Given the description of an element on the screen output the (x, y) to click on. 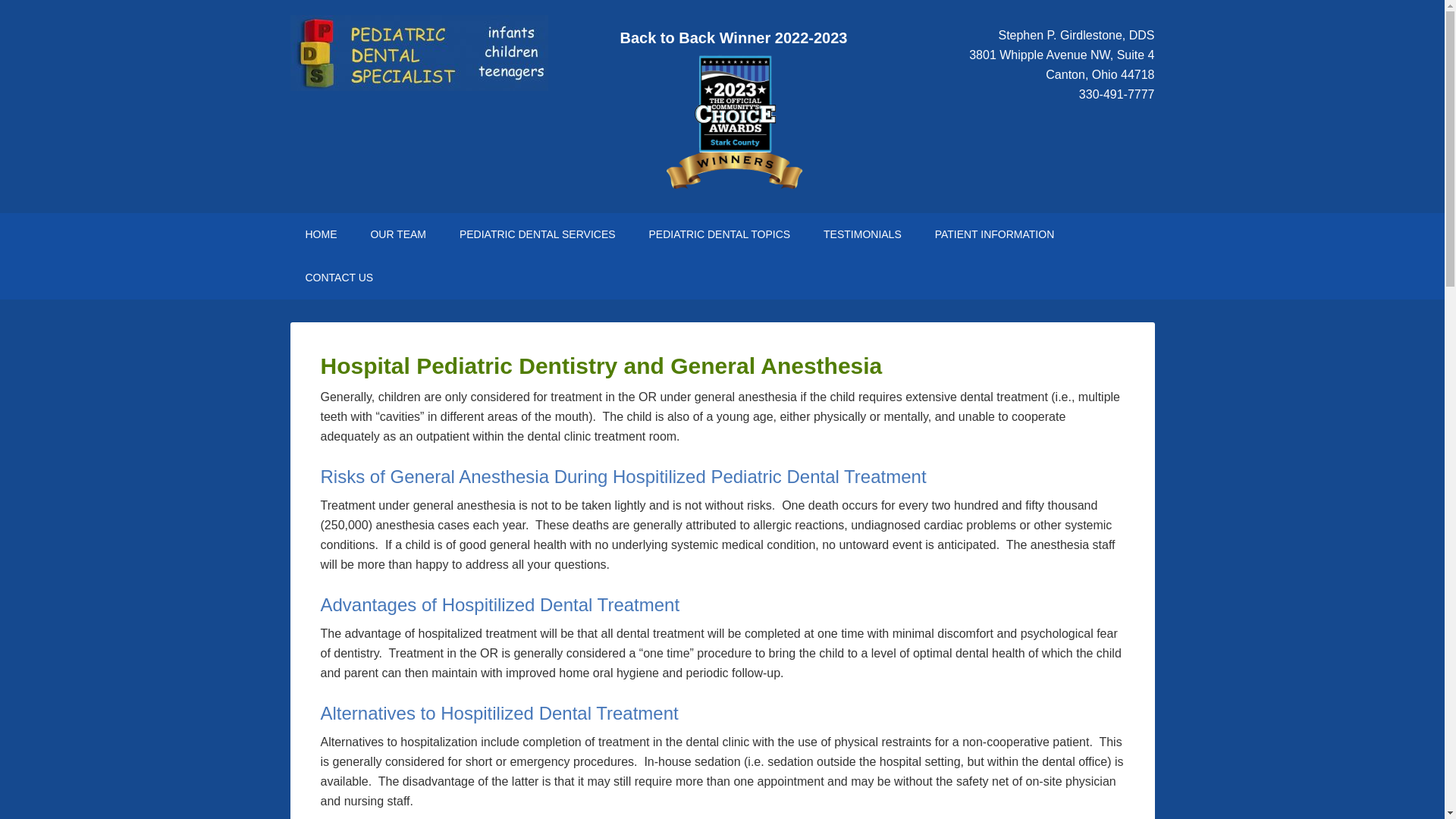
Stephen P Girdlestone DDS (320, 234)
PEDIATRIC DENTAL SPECIALIST (418, 52)
PEDIATRIC DENTAL TOPICS (719, 234)
PATIENT INFORMATION (995, 234)
OUR TEAM (398, 234)
PEDIATRIC DENTAL SERVICES (537, 234)
CONTACT US (338, 277)
HOME (320, 234)
TESTIMONIALS (862, 234)
